Given the description of an element on the screen output the (x, y) to click on. 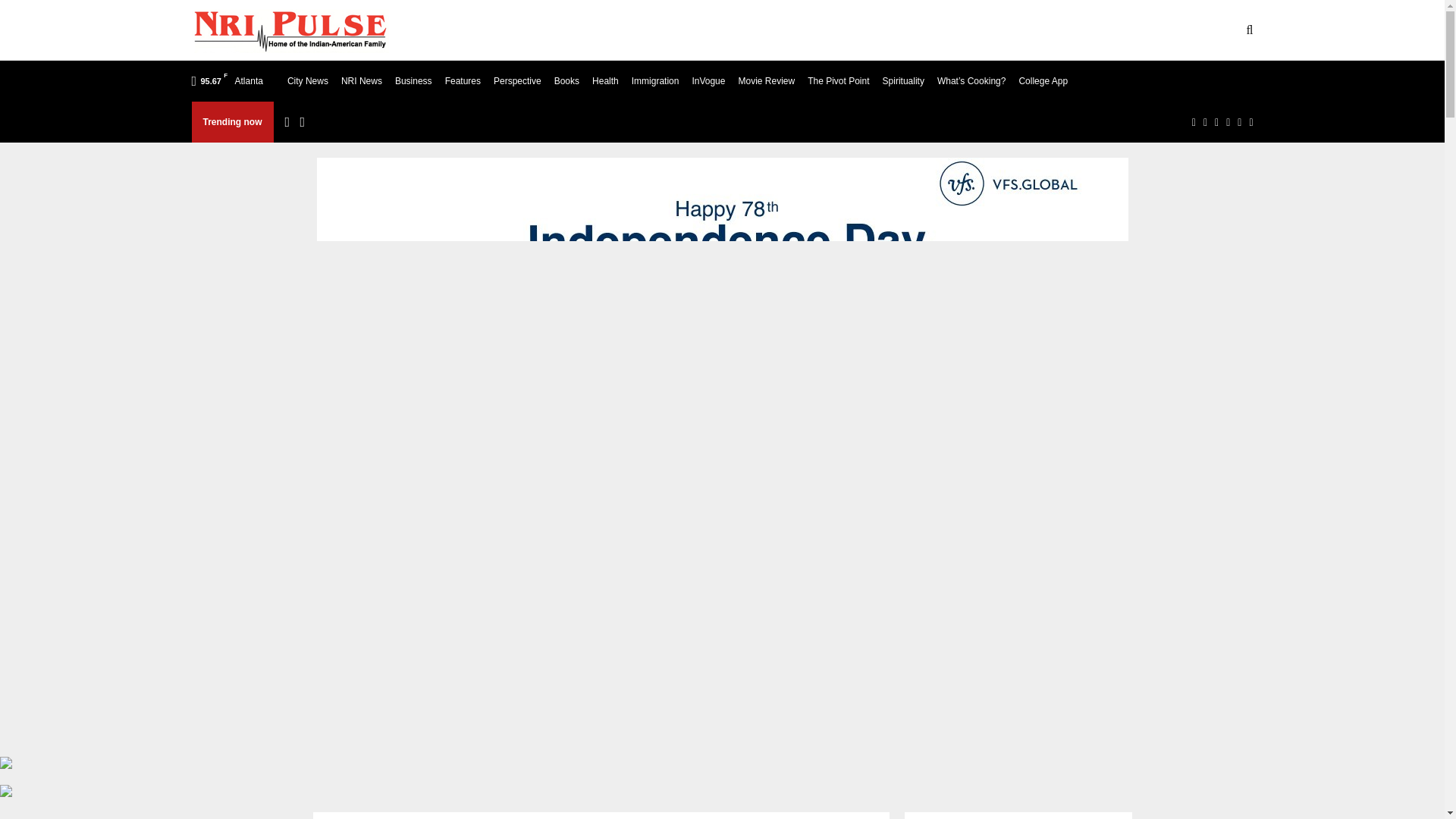
Perspective (517, 80)
Spirituality (903, 80)
InVogue (708, 80)
Movie Review (766, 80)
ABOUT US (501, 30)
City News (307, 80)
Features (462, 80)
PERSPECTIVE (1063, 30)
Immigration (655, 80)
Books (566, 80)
